Given the description of an element on the screen output the (x, y) to click on. 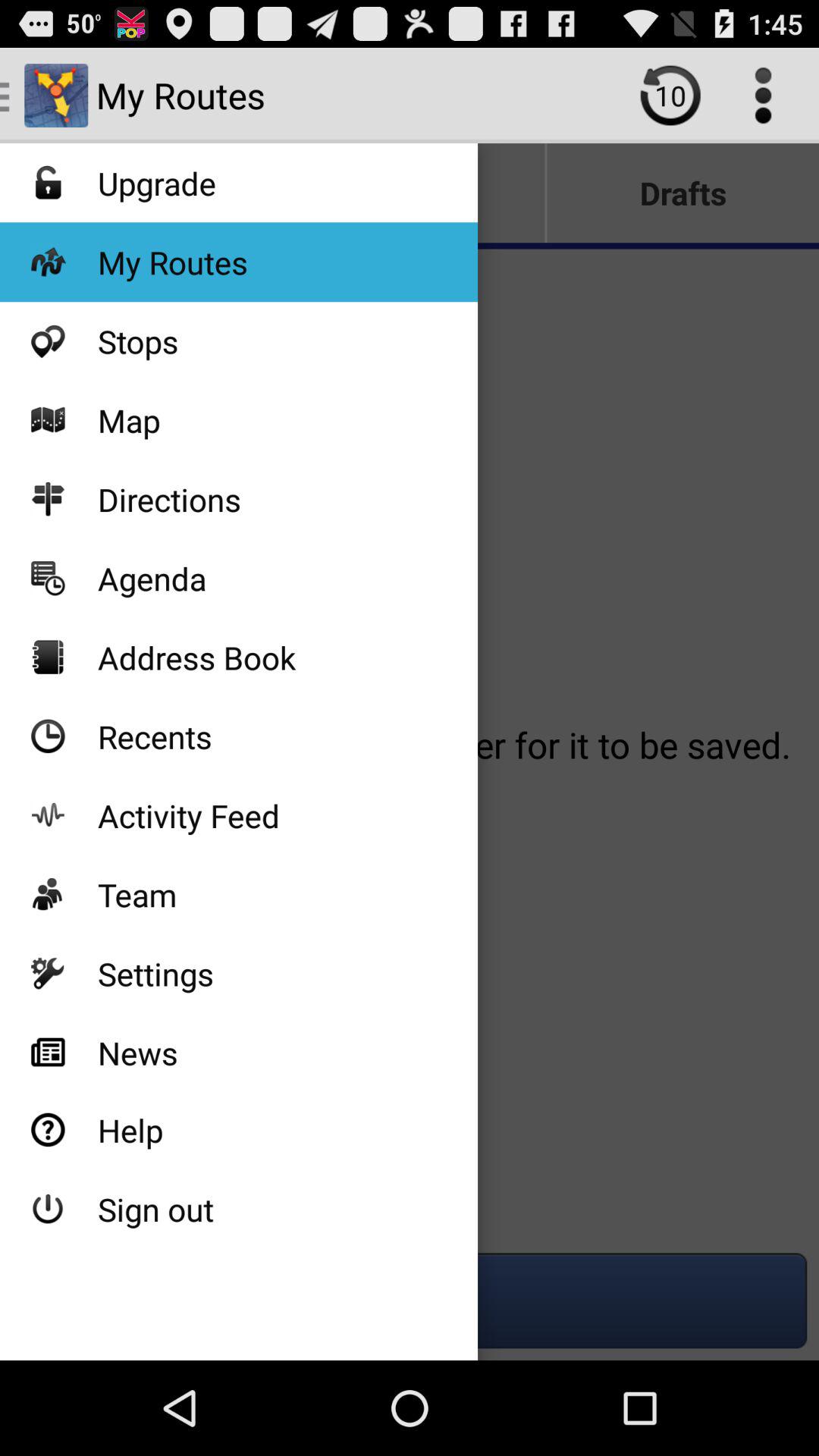
select the icon which is beside activity feed (48, 814)
select the text which is in the retry button (670, 96)
